Given the description of an element on the screen output the (x, y) to click on. 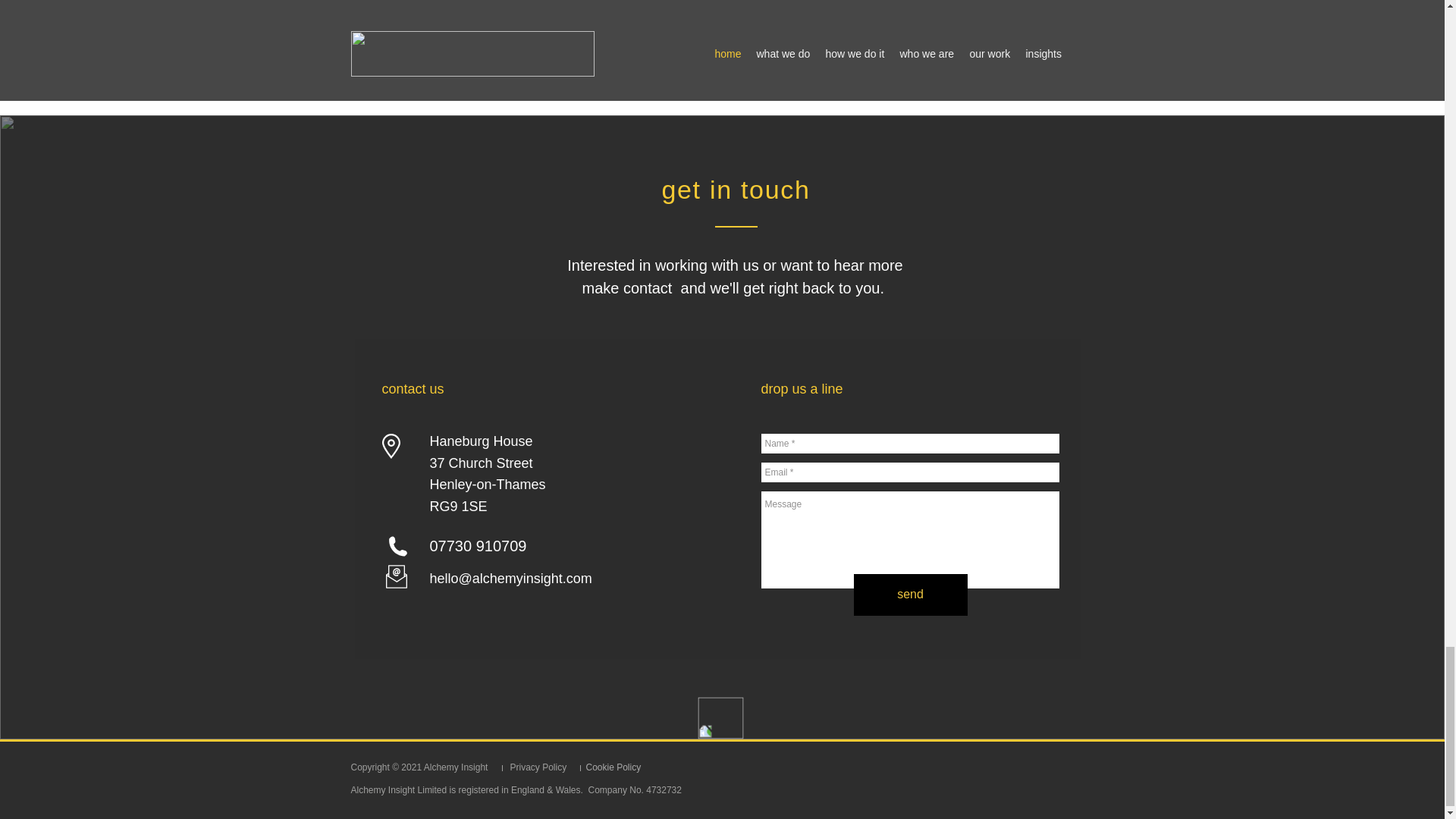
Cookie Policy (612, 767)
send (910, 594)
Privacy Policy (537, 767)
